Given the description of an element on the screen output the (x, y) to click on. 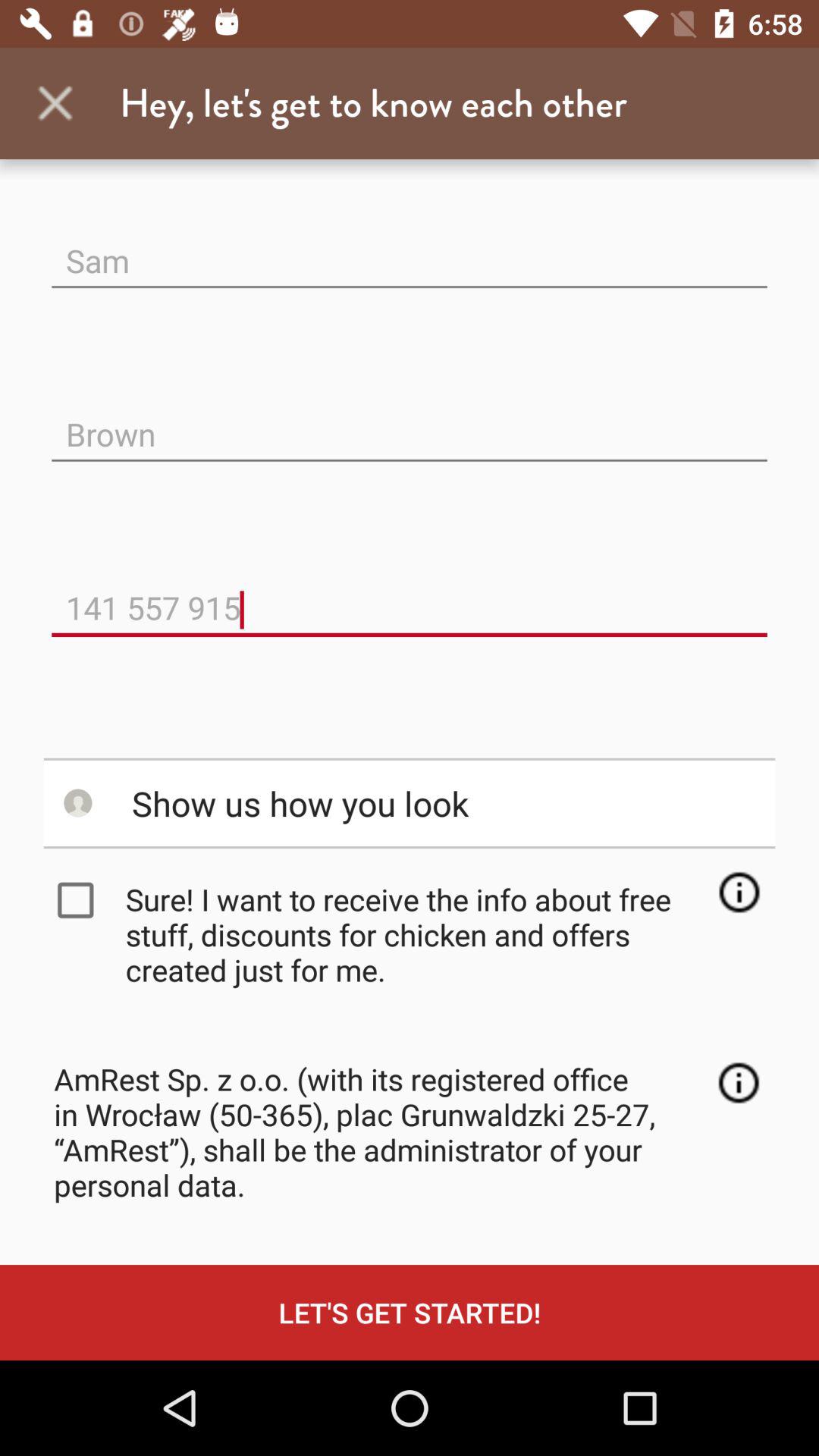
open the item to the left of sure i want (79, 900)
